Given the description of an element on the screen output the (x, y) to click on. 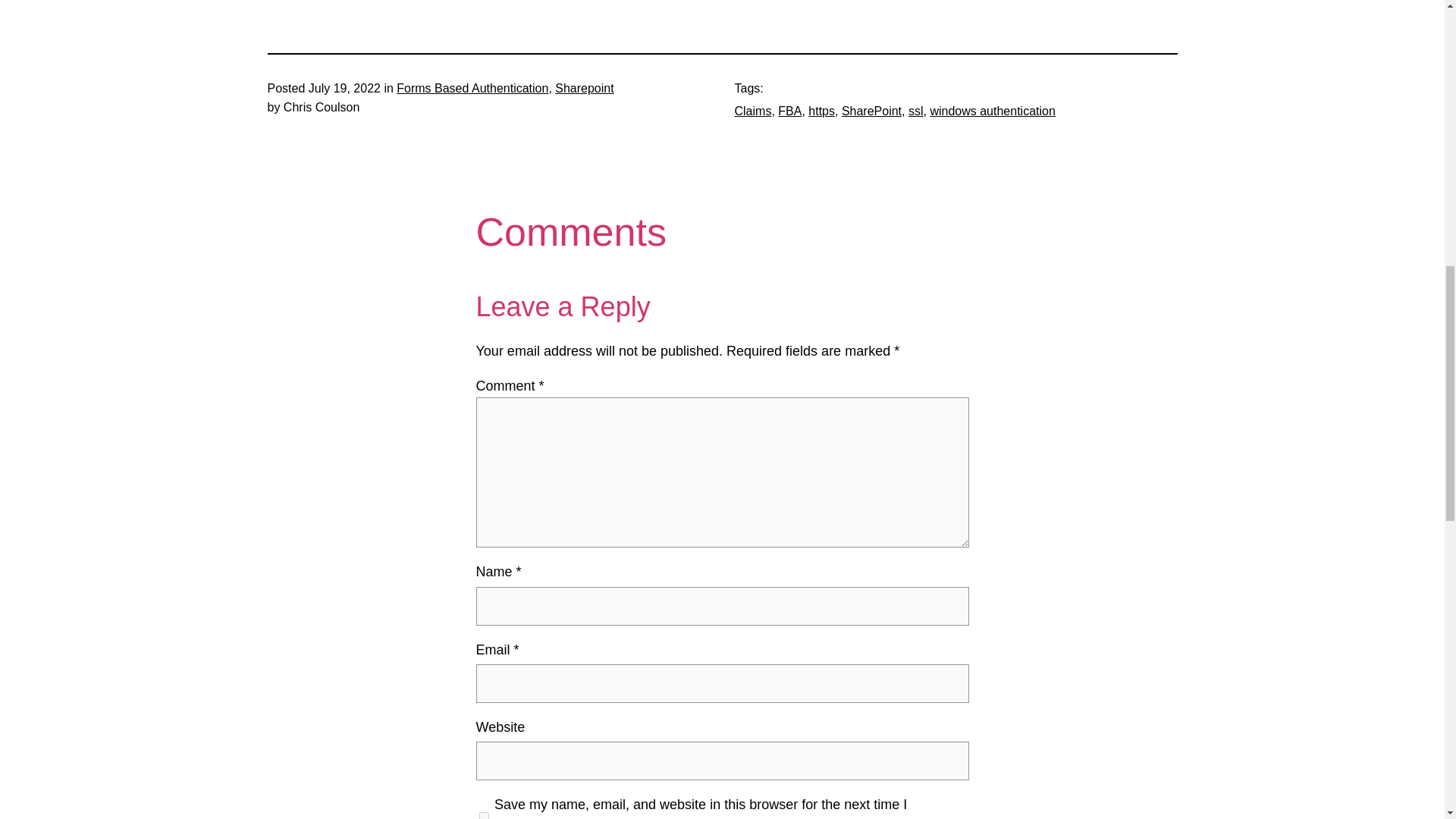
FBA (789, 110)
https (821, 110)
ssl (915, 110)
Claims (752, 110)
Forms Based Authentication (472, 88)
Sharepoint (583, 88)
windows authentication (992, 110)
SharePoint (871, 110)
